Given the description of an element on the screen output the (x, y) to click on. 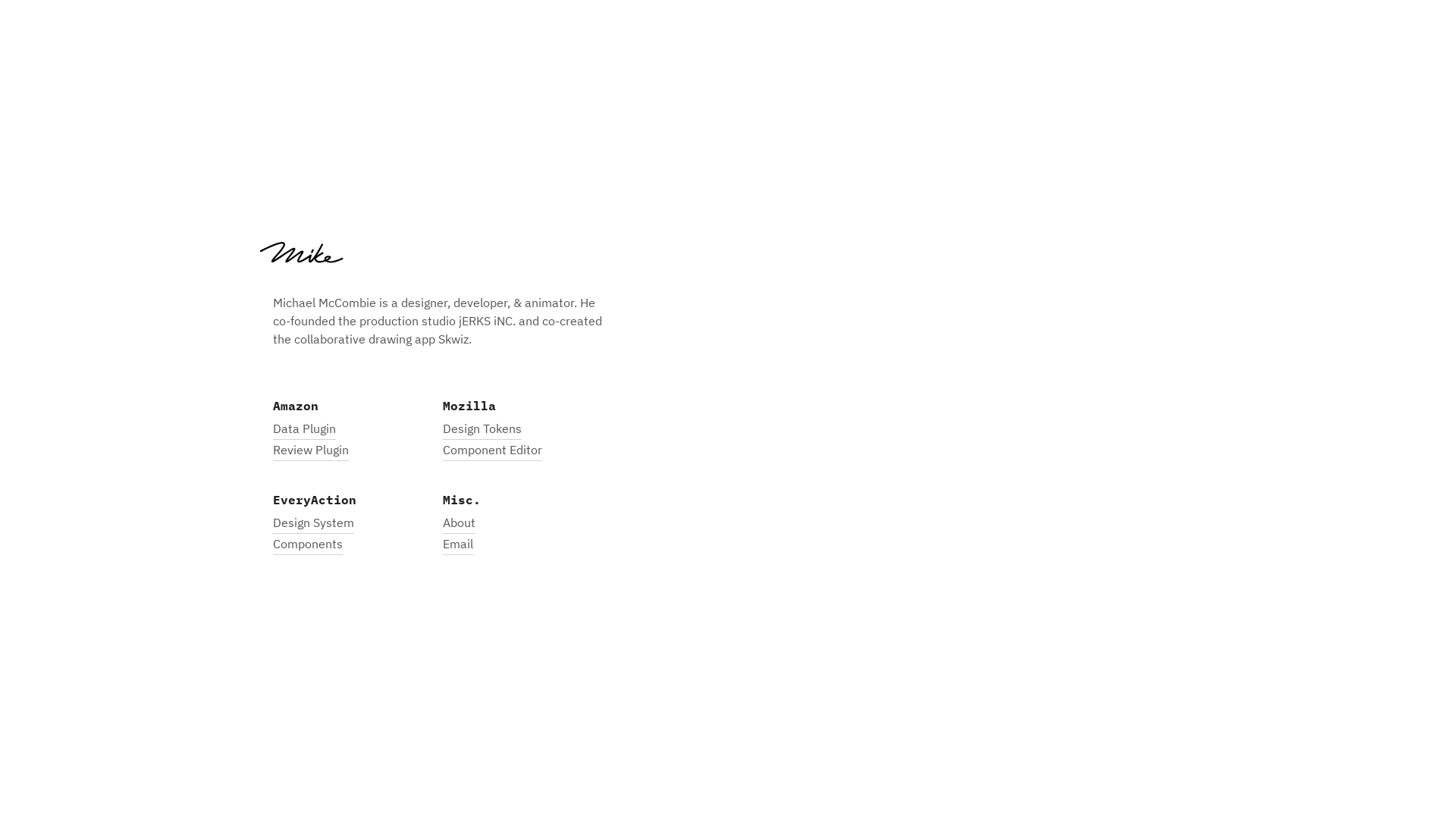
Email Element type: text (457, 543)
Components Element type: text (307, 543)
About Element type: text (458, 522)
Data Plugin Element type: text (304, 428)
Component Editor Element type: text (492, 449)
Design Tokens Element type: text (481, 428)
Design System Element type: text (313, 522)
Review Plugin Element type: text (310, 449)
